Given the description of an element on the screen output the (x, y) to click on. 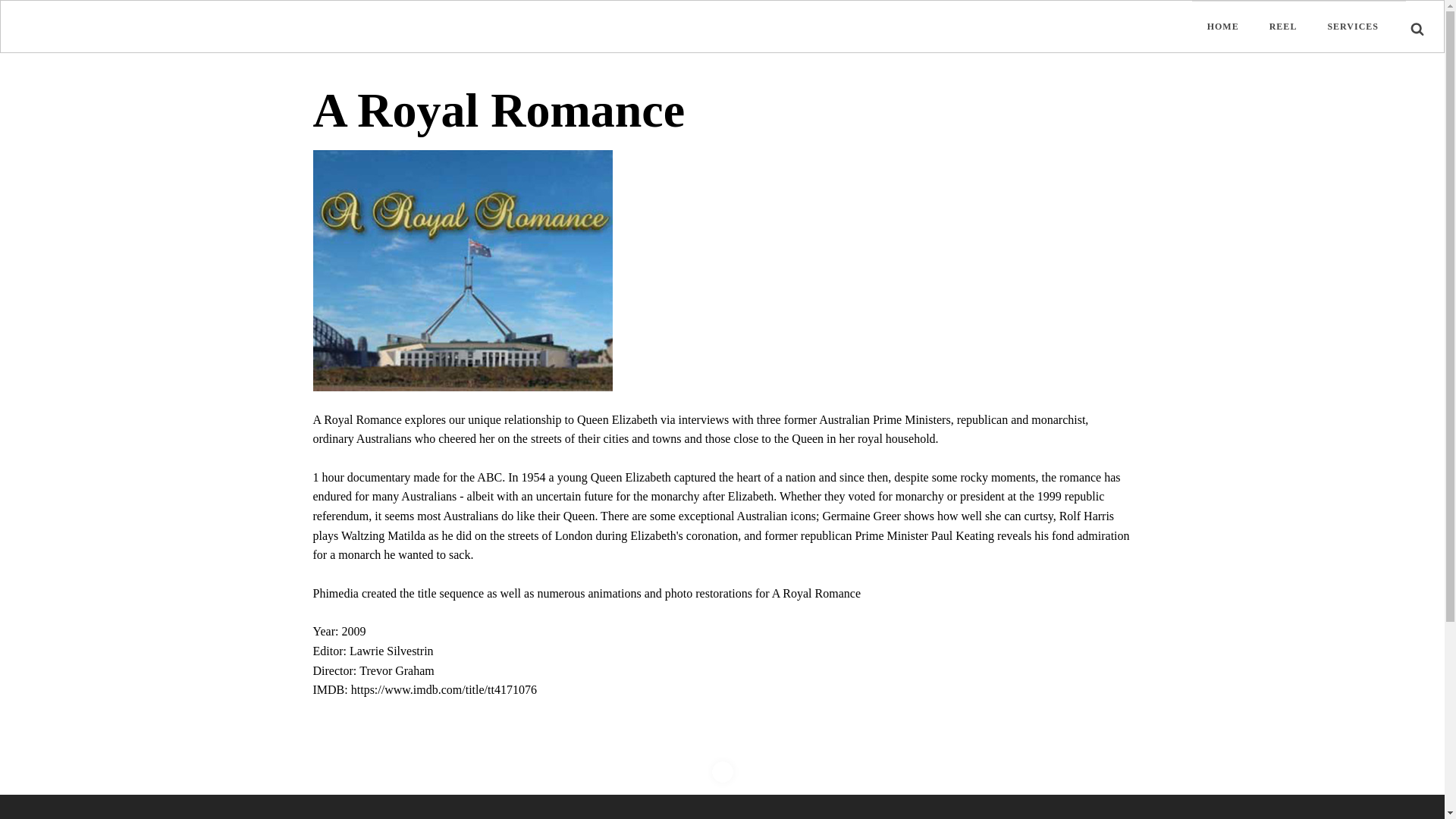
SERVICES (1352, 26)
HOME (1222, 26)
Search (25, 9)
REEL (1283, 26)
